Given the description of an element on the screen output the (x, y) to click on. 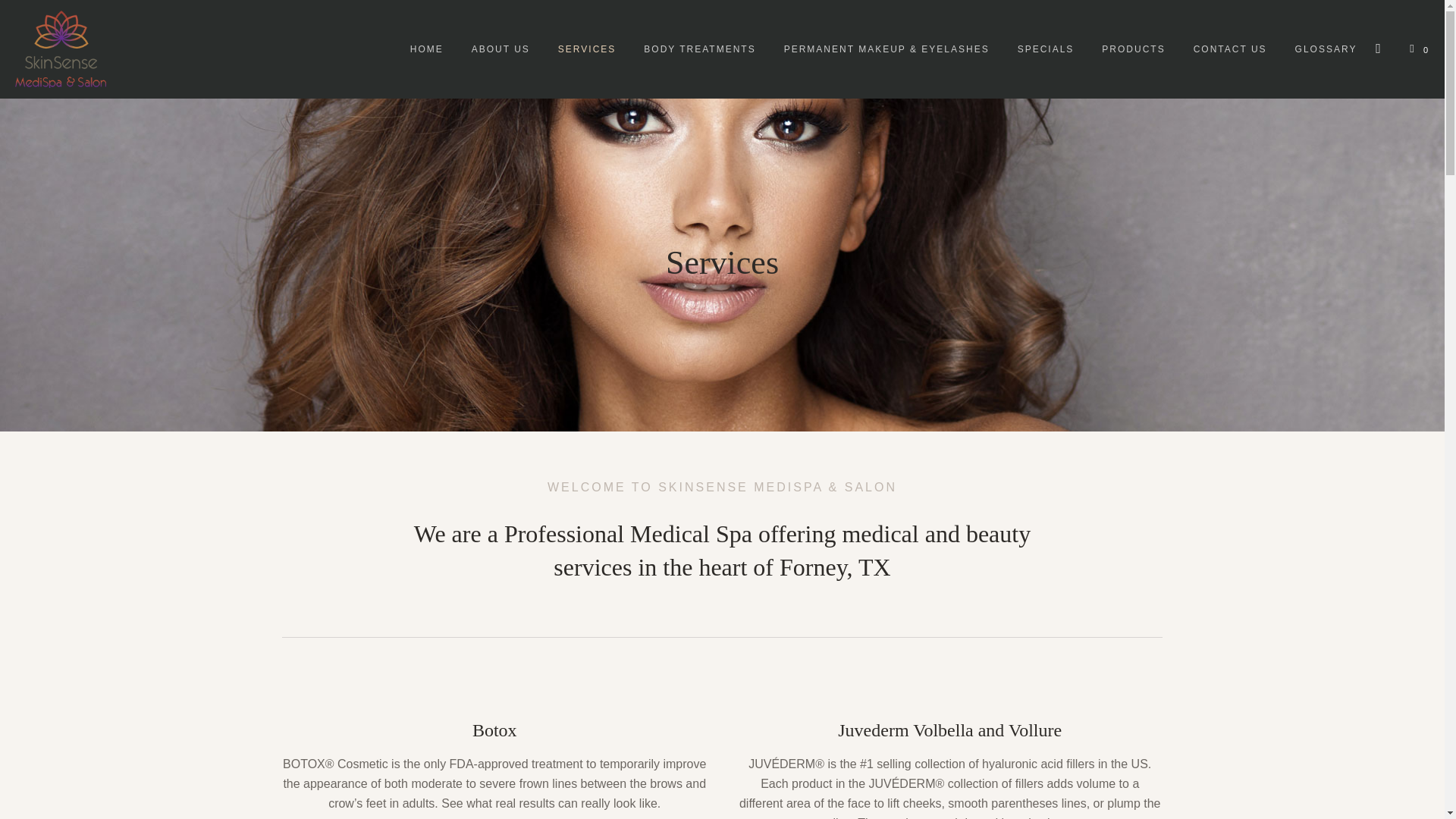
Facebook (1378, 49)
HOME (426, 49)
SPECIALS (1045, 49)
GLOSSARY (1326, 49)
SERVICES (586, 49)
0 (1417, 48)
CONTACT US (1230, 49)
ABOUT US (500, 49)
BODY TREATMENTS (699, 49)
PRODUCTS (1132, 49)
